Given the description of an element on the screen output the (x, y) to click on. 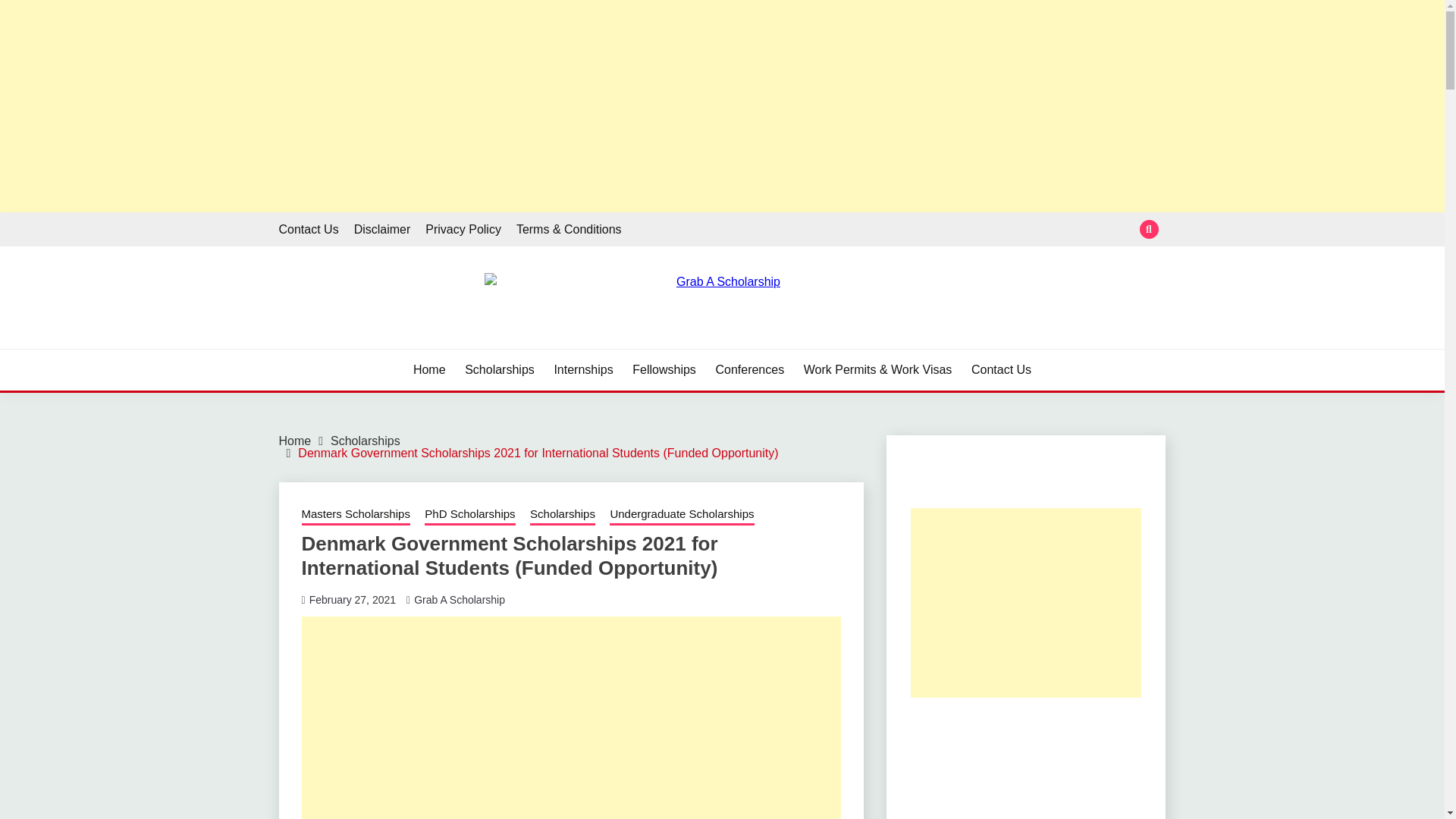
GRAB A SCHOLARSHIP (437, 346)
Fellowships (663, 370)
Grab A Scholarship (459, 598)
Internships (582, 370)
February 27, 2021 (352, 598)
Home (429, 370)
Scholarships (499, 370)
Conferences (749, 370)
Masters Scholarships (355, 515)
Contact Us (309, 228)
Search (832, 18)
Scholarships (562, 515)
Home (295, 440)
PhD Scholarships (470, 515)
Privacy Policy (462, 228)
